Given the description of an element on the screen output the (x, y) to click on. 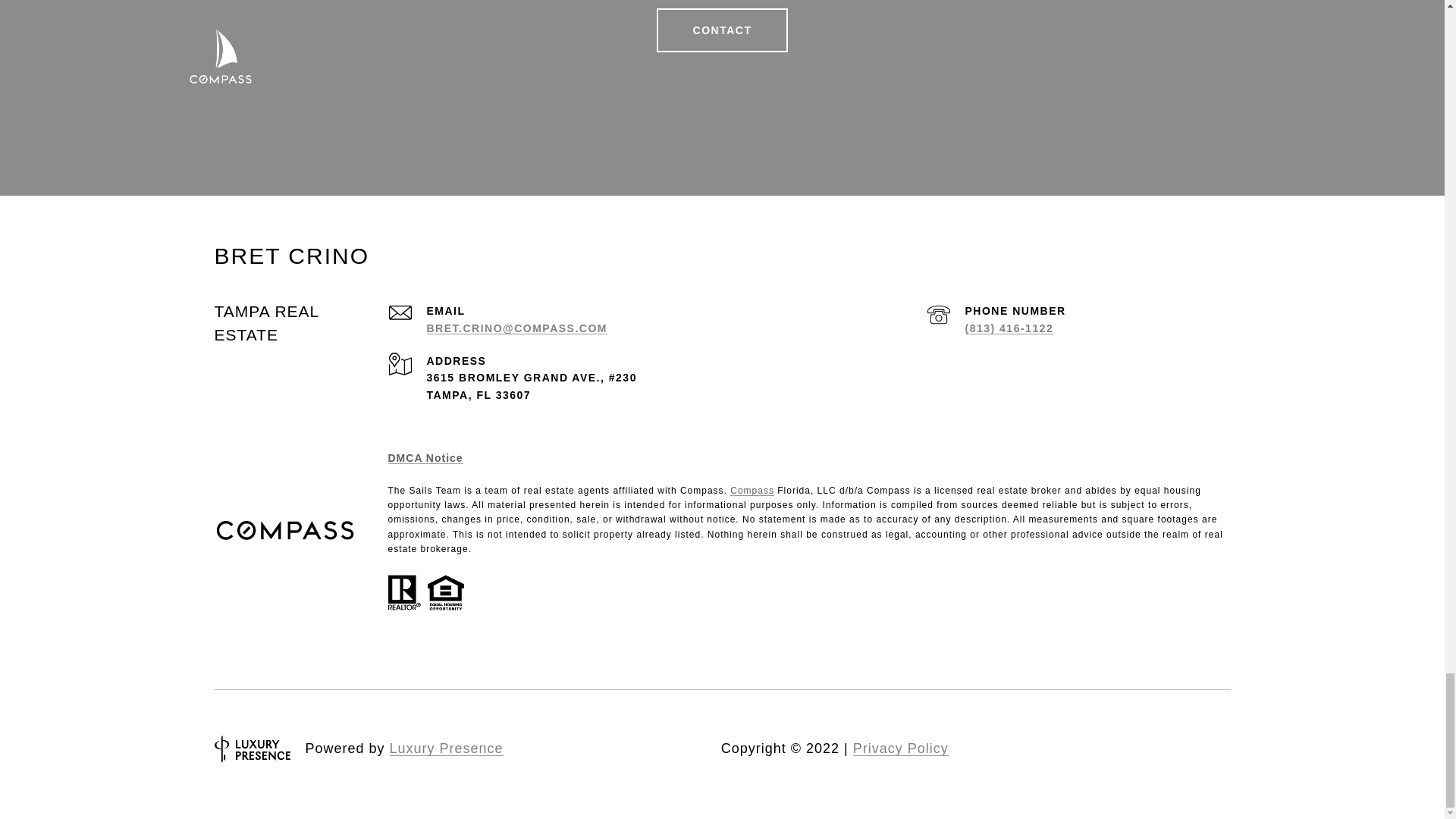
DMCA Notice (425, 458)
Compass (752, 490)
CONTACT (722, 29)
Privacy Policy (901, 748)
Luxury Presence (446, 748)
